Given the description of an element on the screen output the (x, y) to click on. 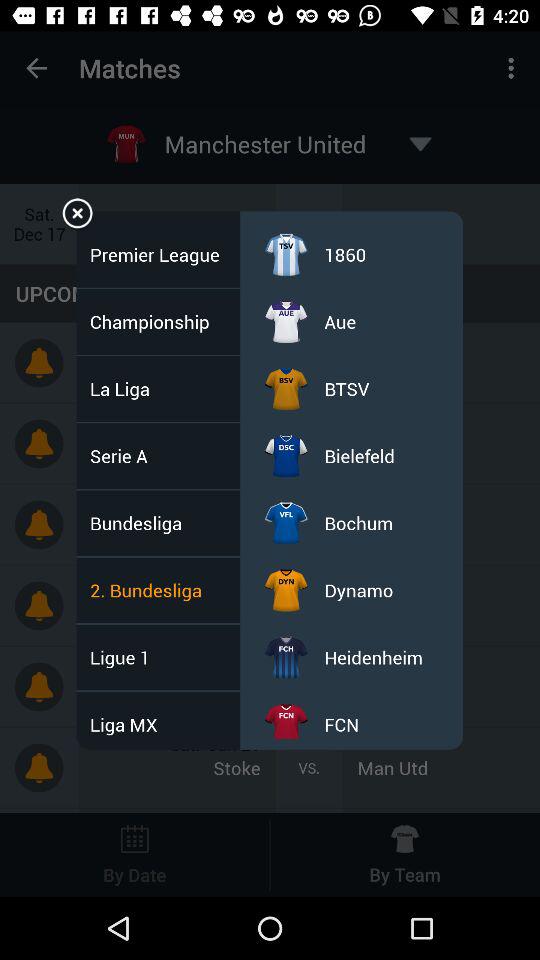
tap icon above bielefeld (346, 388)
